Given the description of an element on the screen output the (x, y) to click on. 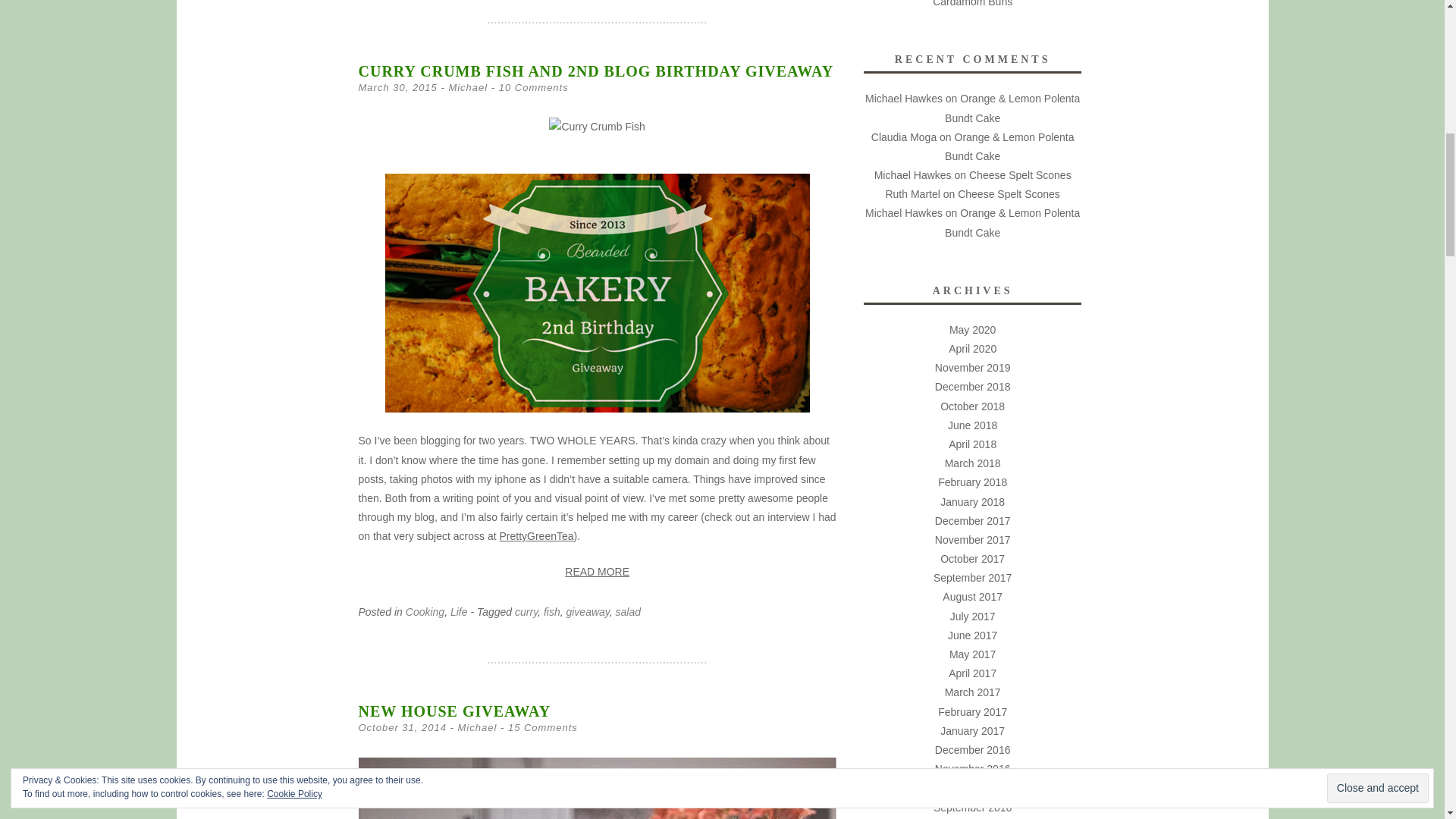
CURRY CRUMB FISH AND 2ND BLOG BIRTHDAY GIVEAWAY (595, 71)
10 Comments (534, 87)
PrettyGreenTea (536, 535)
March 30, 2015 (397, 87)
Michael (467, 87)
Career Inspiration - Pretty Green Tea (536, 535)
